Given the description of an element on the screen output the (x, y) to click on. 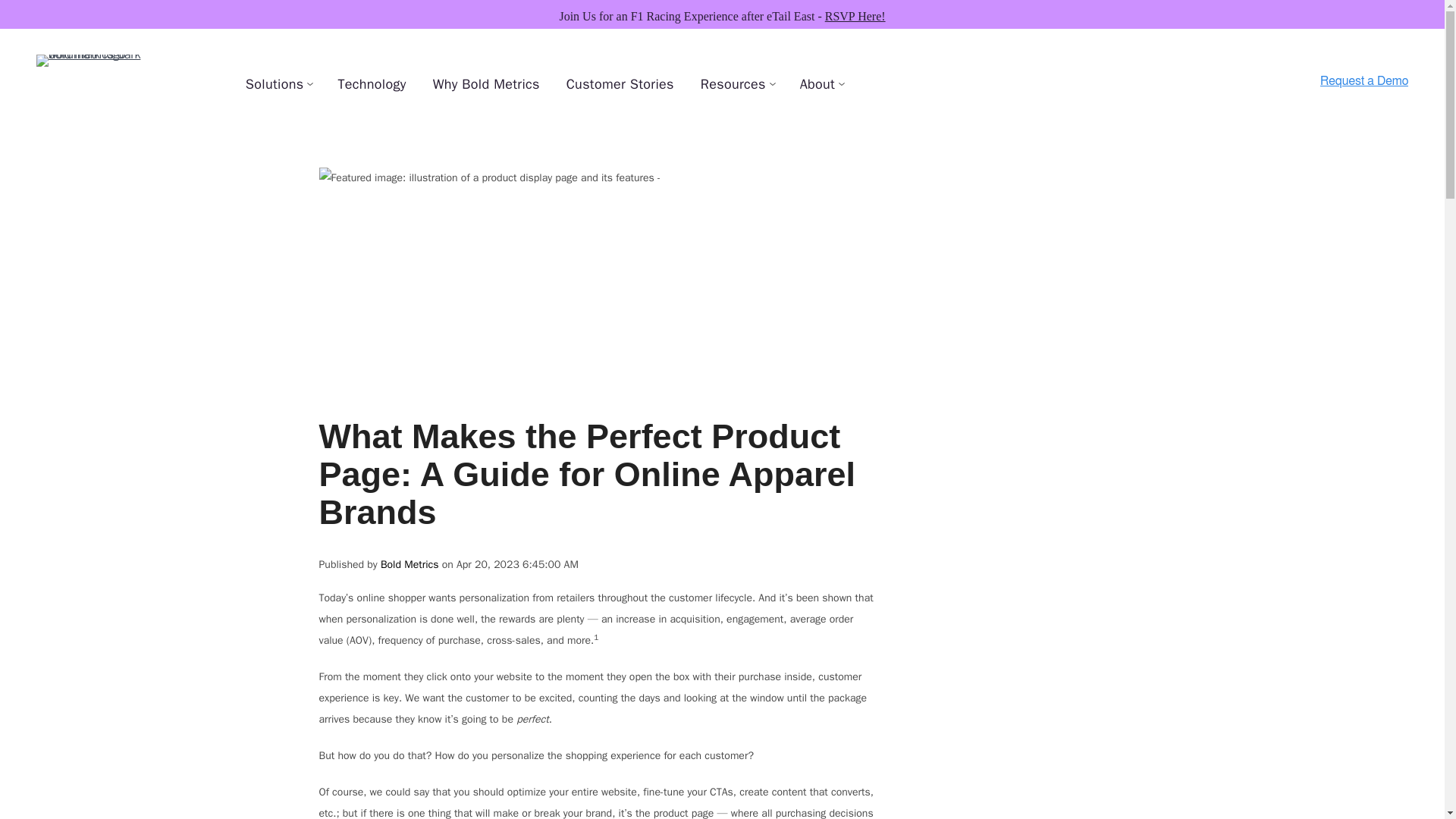
Resources (732, 83)
Bold Metrics (411, 563)
Customer Stories (620, 83)
Why Bold Metrics (486, 83)
Technology (371, 83)
RSVP Here! (855, 15)
Solutions (275, 83)
About (817, 83)
